Given the description of an element on the screen output the (x, y) to click on. 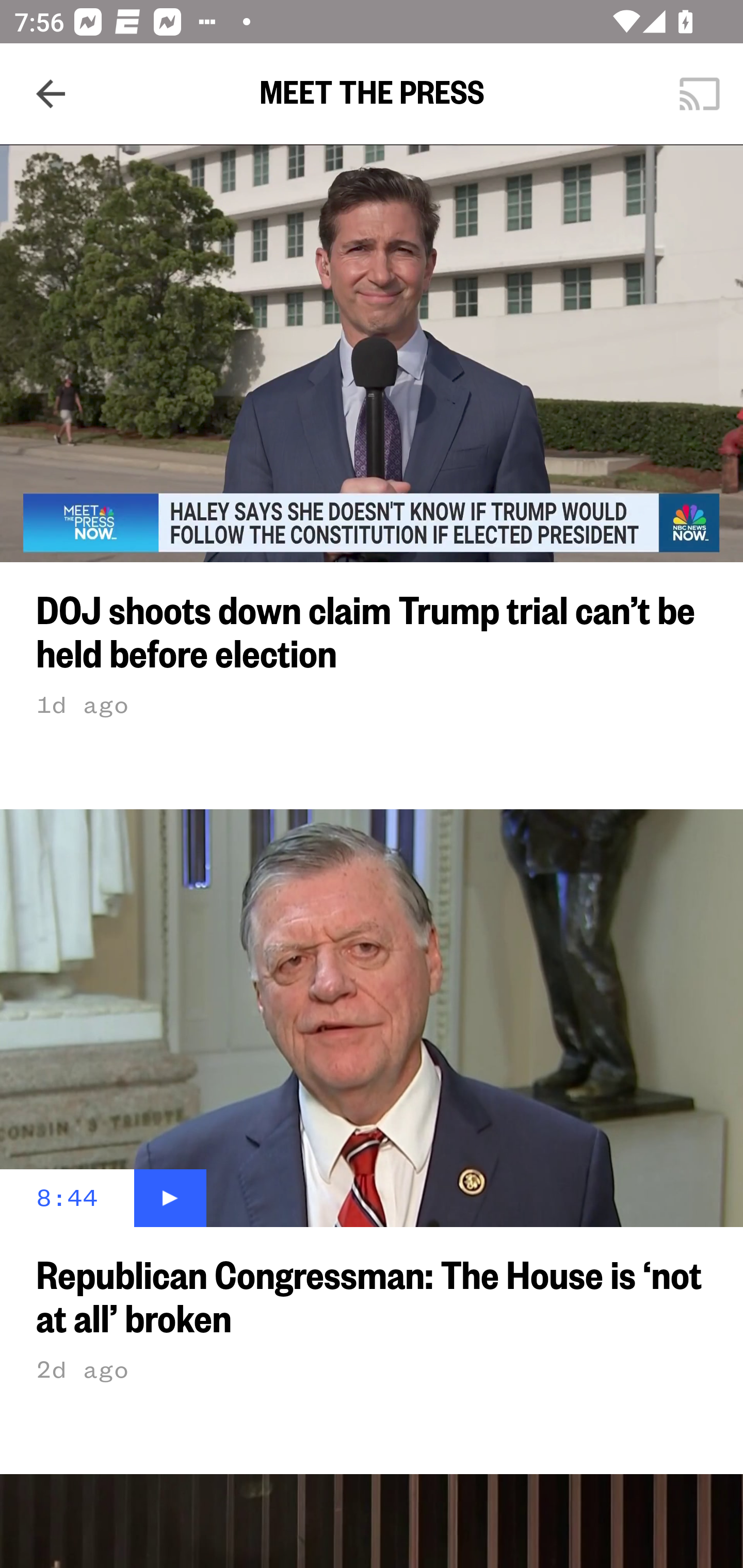
Navigate up (50, 93)
Cast. Disconnected (699, 93)
